Given the description of an element on the screen output the (x, y) to click on. 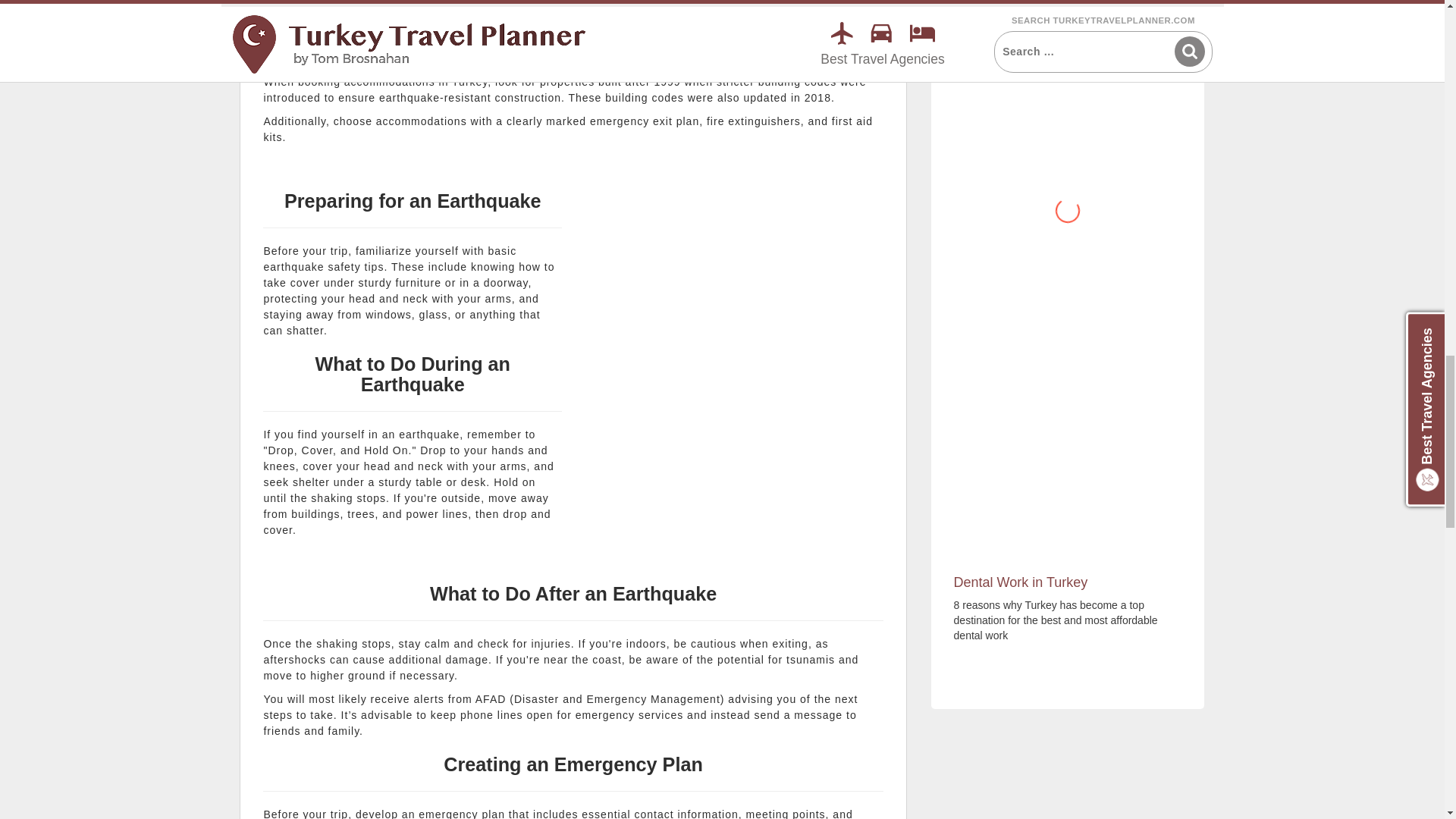
Earthquake Safety (734, 325)
